Given the description of an element on the screen output the (x, y) to click on. 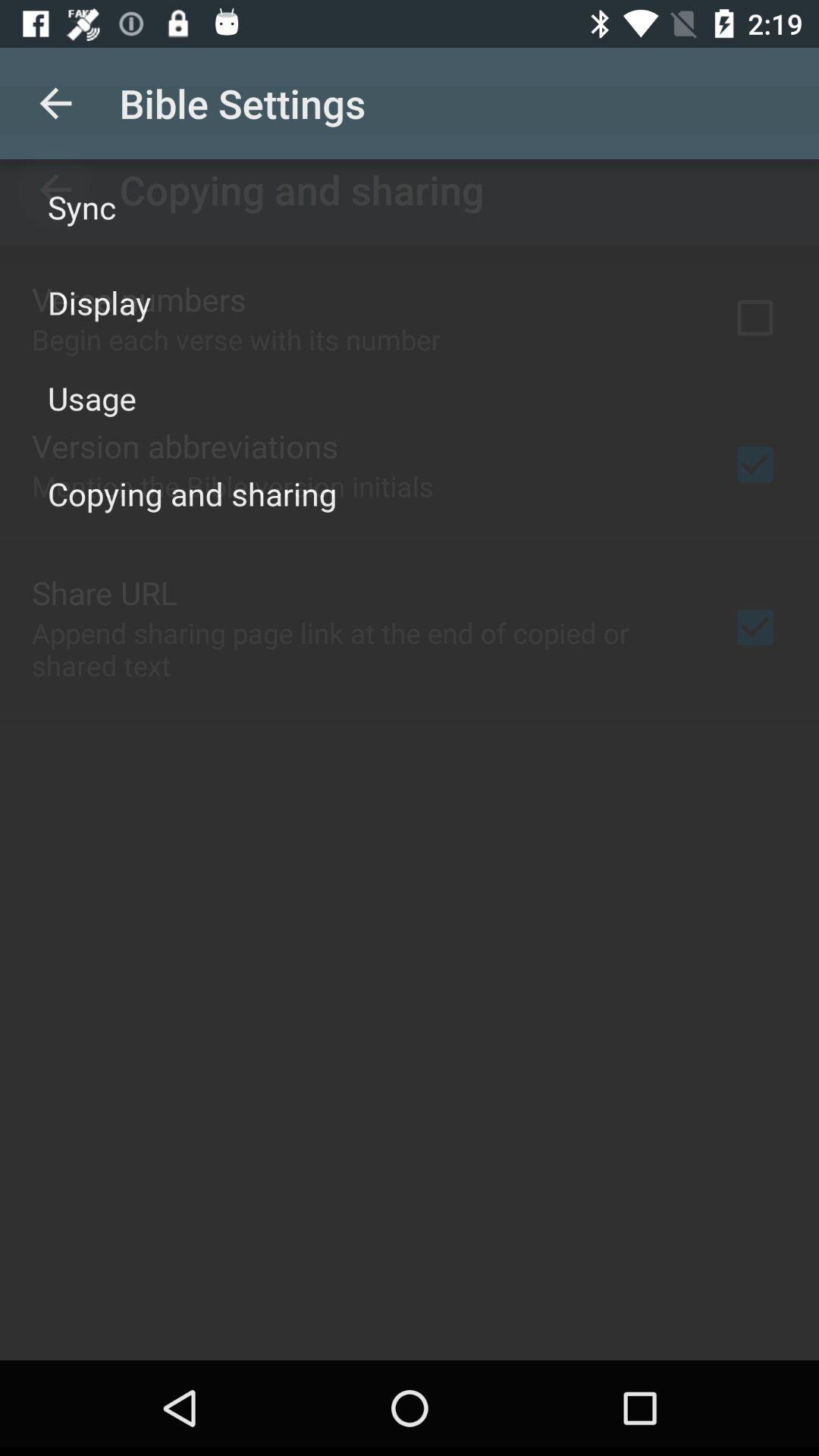
scroll to copying and sharing icon (191, 493)
